Given the description of an element on the screen output the (x, y) to click on. 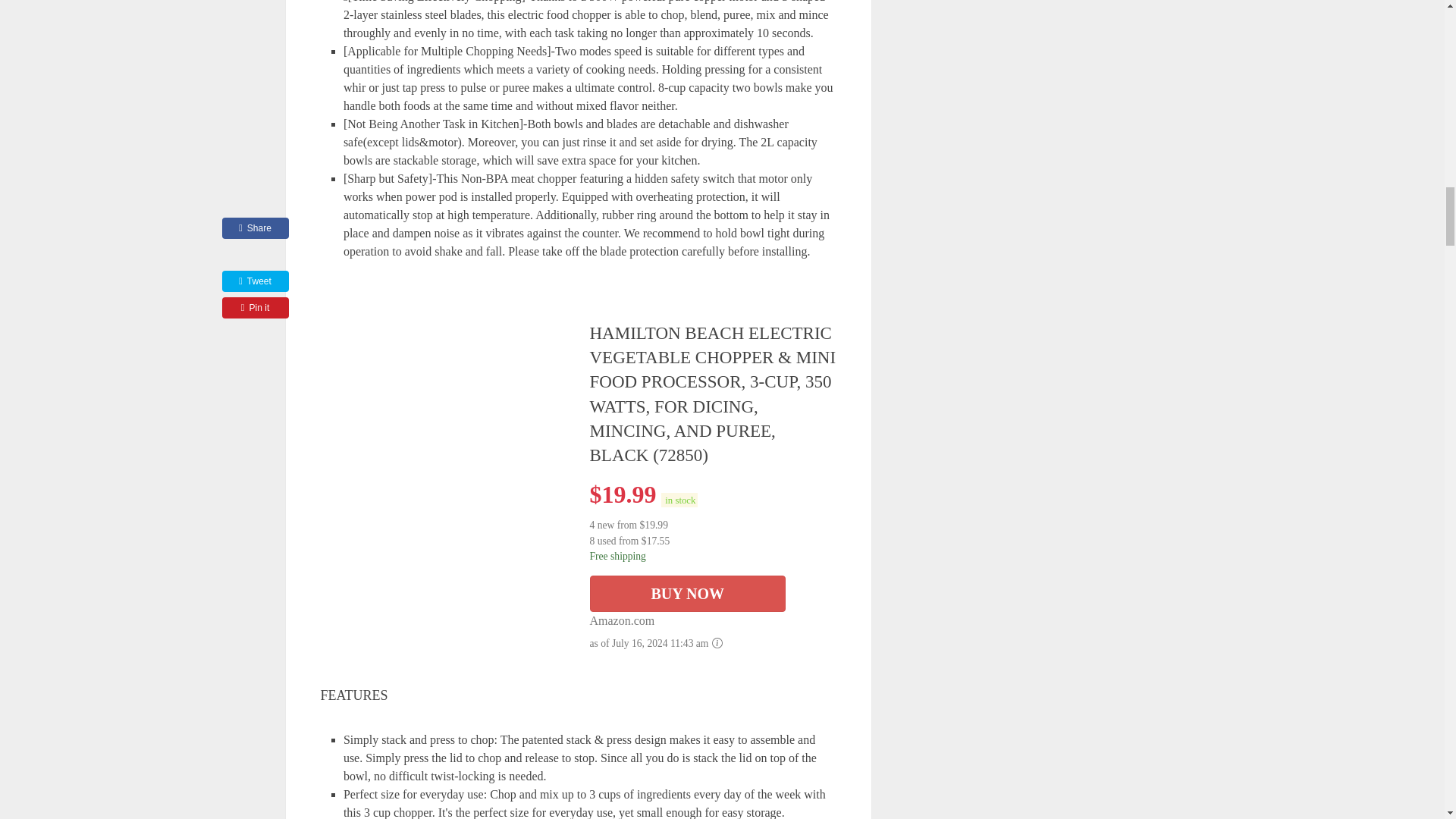
Last updated on July 16, 2024 11:43 am (679, 499)
